Given the description of an element on the screen output the (x, y) to click on. 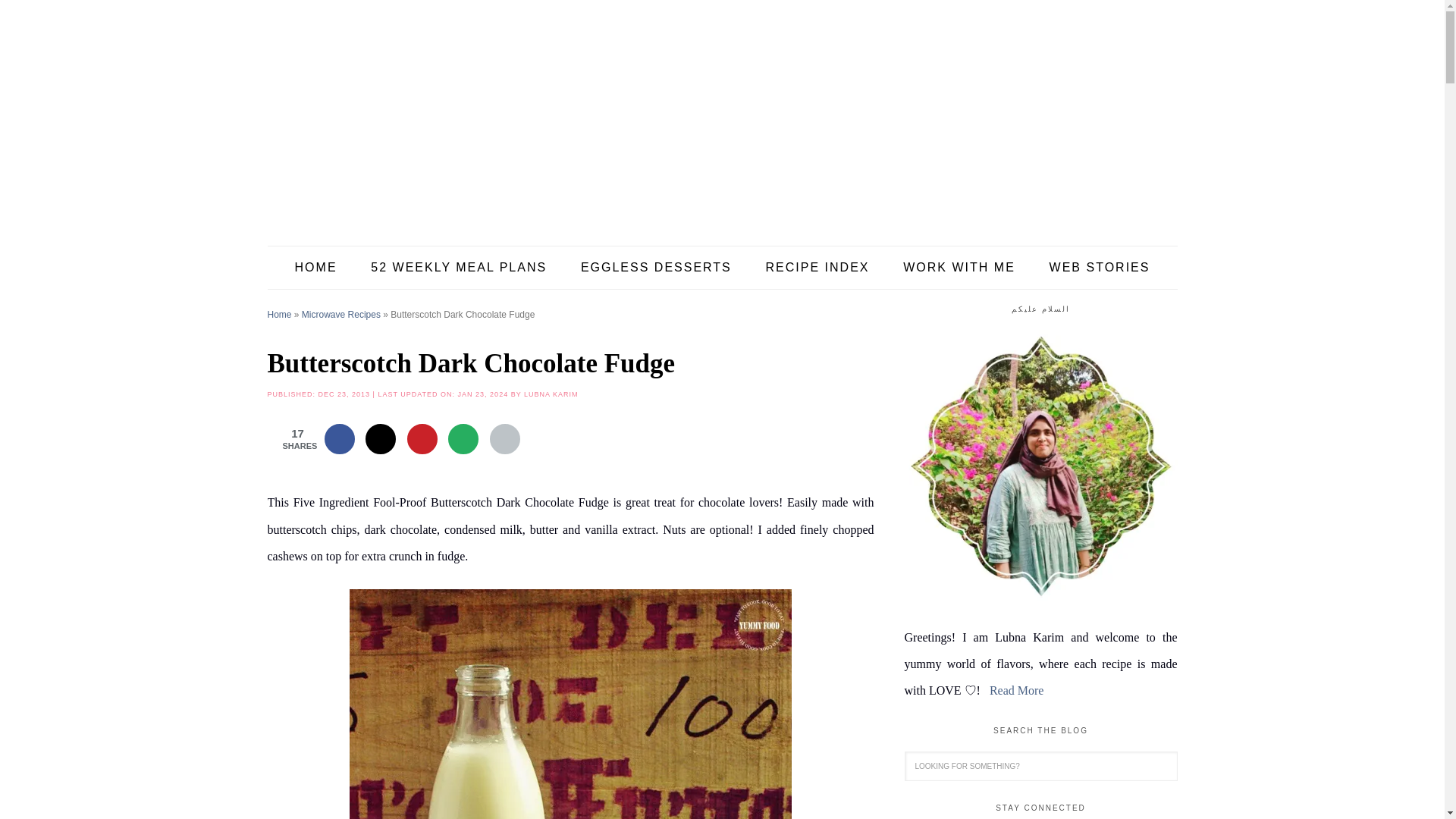
Share on Facebook (339, 439)
EGGLESS DESSERTS (656, 267)
Yummy Food (721, 120)
Save to Pinterest (421, 439)
RECIPE INDEX (818, 267)
Home (278, 314)
HOME (315, 267)
Print this webpage (504, 439)
Send over email (463, 439)
WORK WITH ME (959, 267)
Share on X (380, 439)
WEB STORIES (1099, 267)
Microwave Recipes (340, 314)
